Given the description of an element on the screen output the (x, y) to click on. 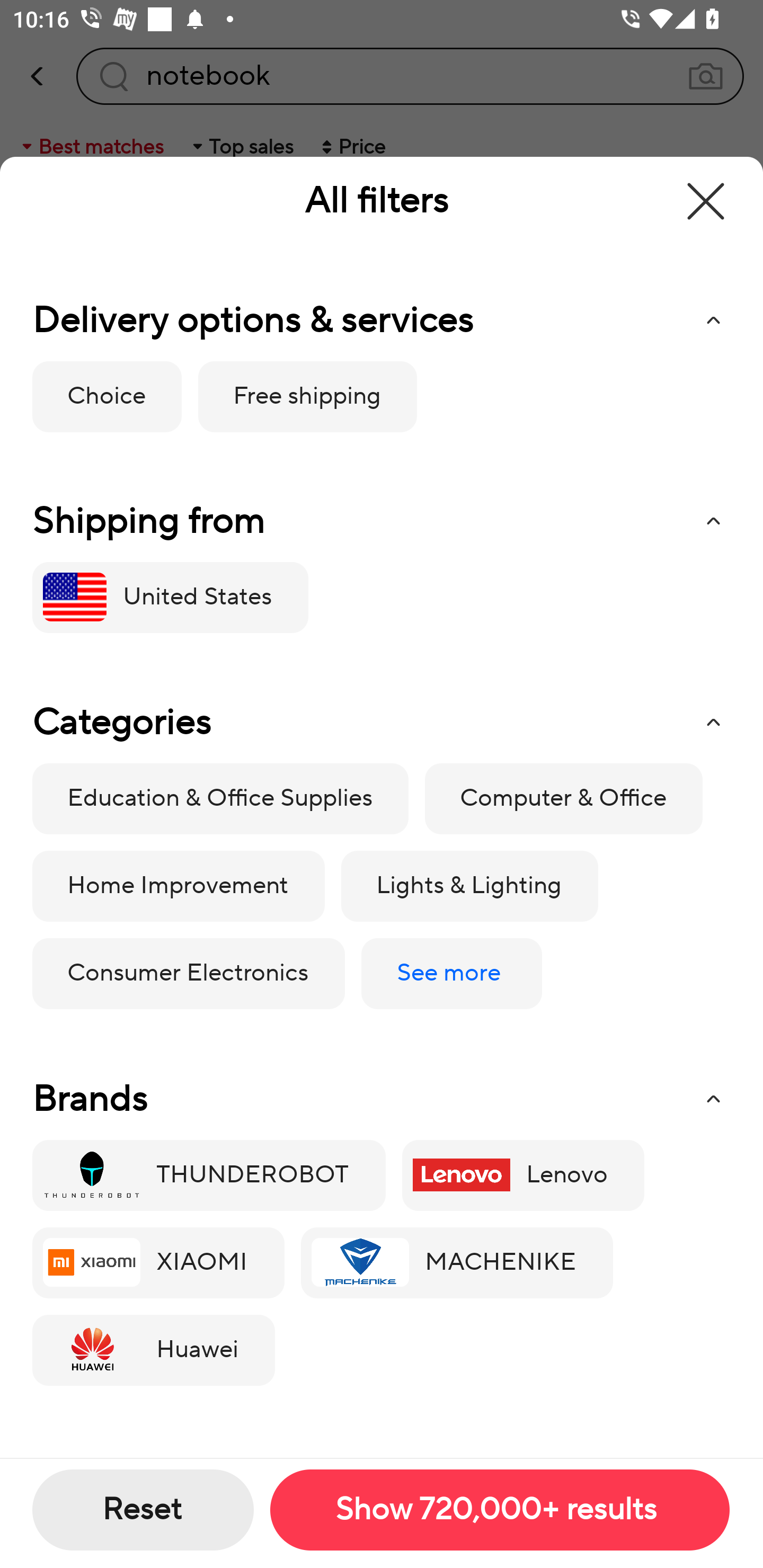
Delivery options & services  (381, 320)
Choice (106, 396)
Free shipping (307, 396)
Shipping from  (381, 521)
United States (170, 597)
Categories (381, 722)
Education & Office Supplies (220, 798)
Computer & Office (563, 798)
Home Improvement (178, 886)
Lights & Lighting (469, 886)
Consumer Electronics (188, 973)
See more  (451, 973)
Brands (381, 1098)
THUNDEROBOT (209, 1174)
Lenovo (522, 1174)
XIAOMI (158, 1262)
MACHENIKE (456, 1262)
Huawei (153, 1350)
Reset (143, 1509)
Show 720,000+ results  (499, 1509)
